Given the description of an element on the screen output the (x, y) to click on. 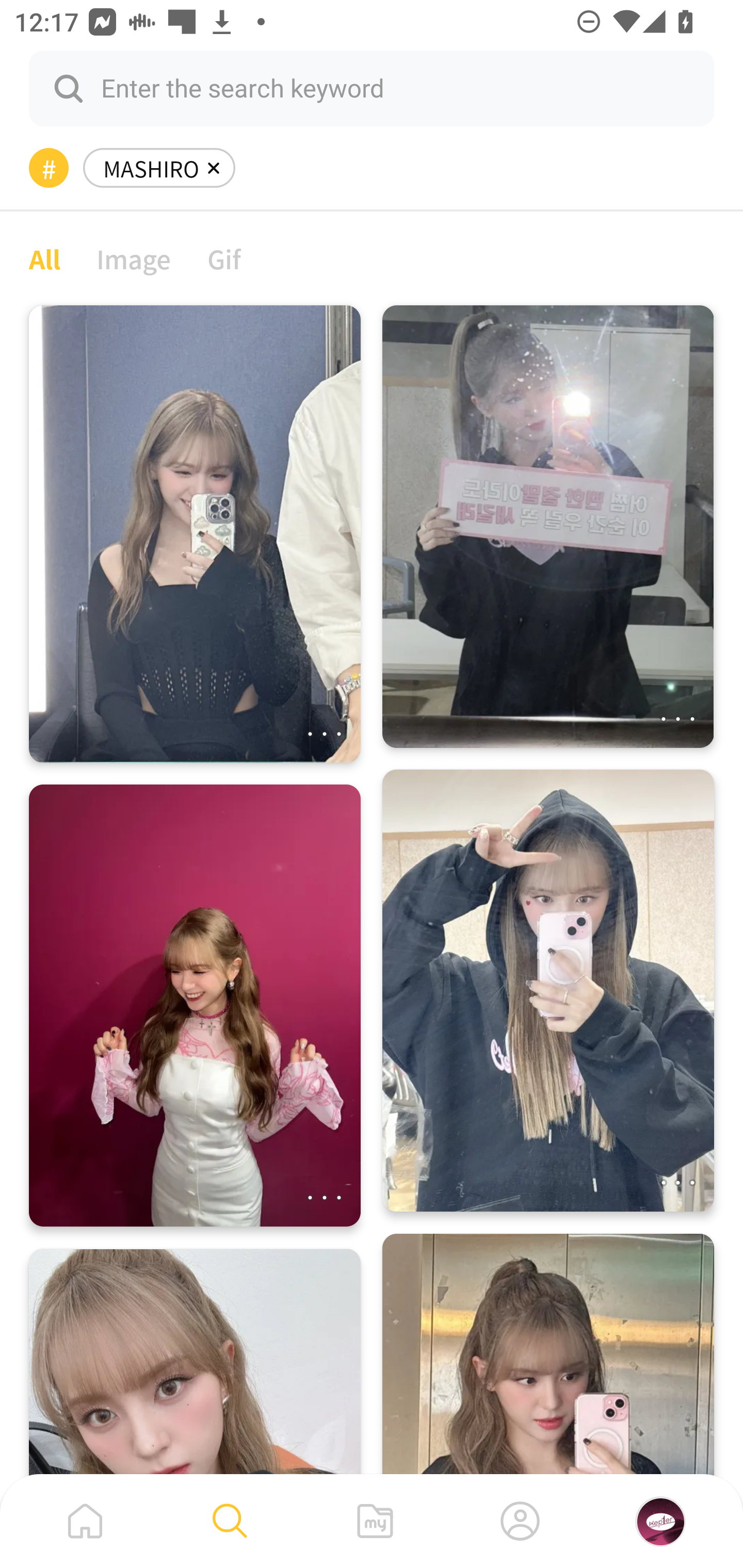
All (44, 257)
Image (133, 257)
Gif (223, 257)
